Given the description of an element on the screen output the (x, y) to click on. 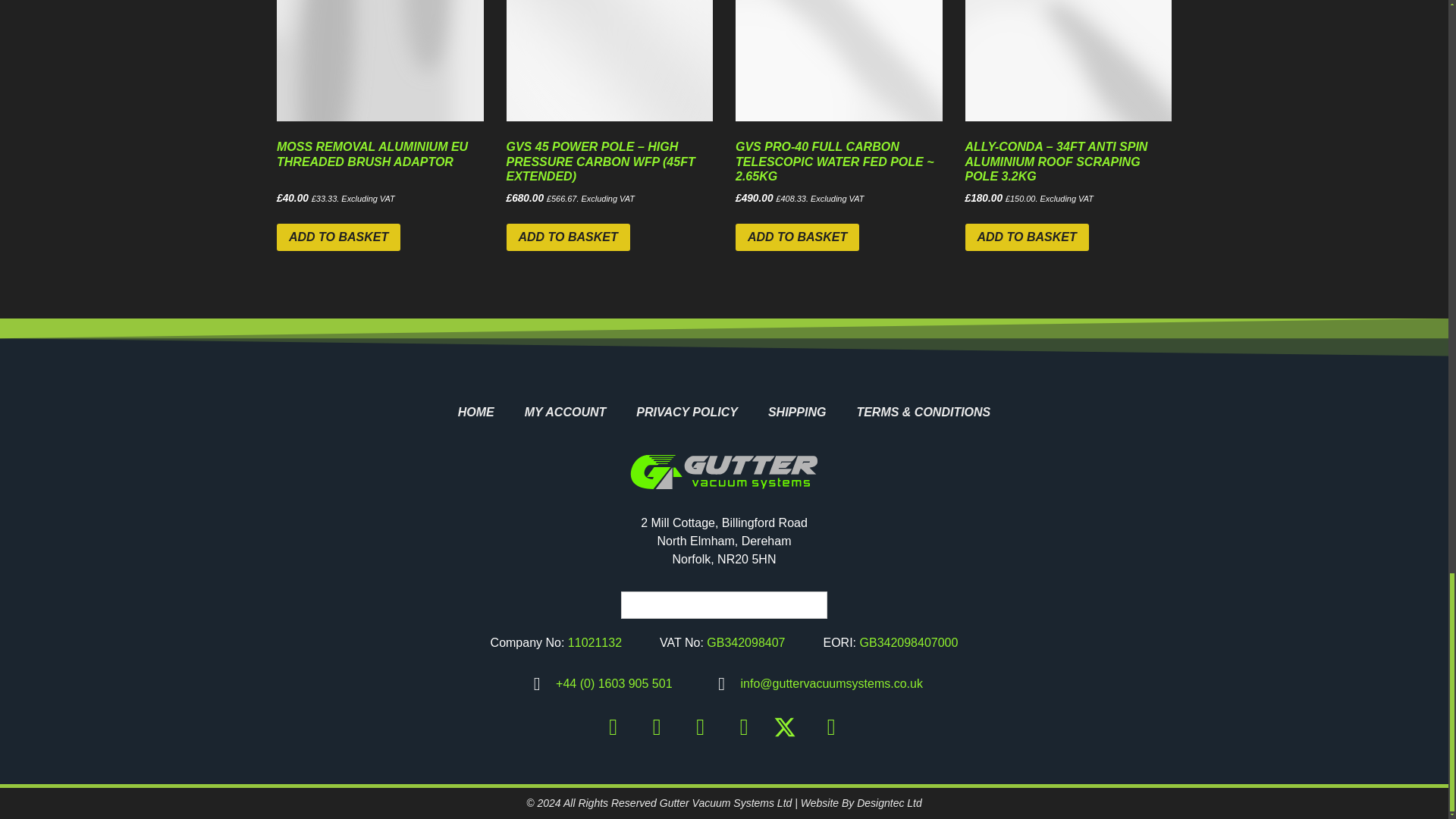
Customer reviews powered by Trustpilot (723, 605)
